Given the description of an element on the screen output the (x, y) to click on. 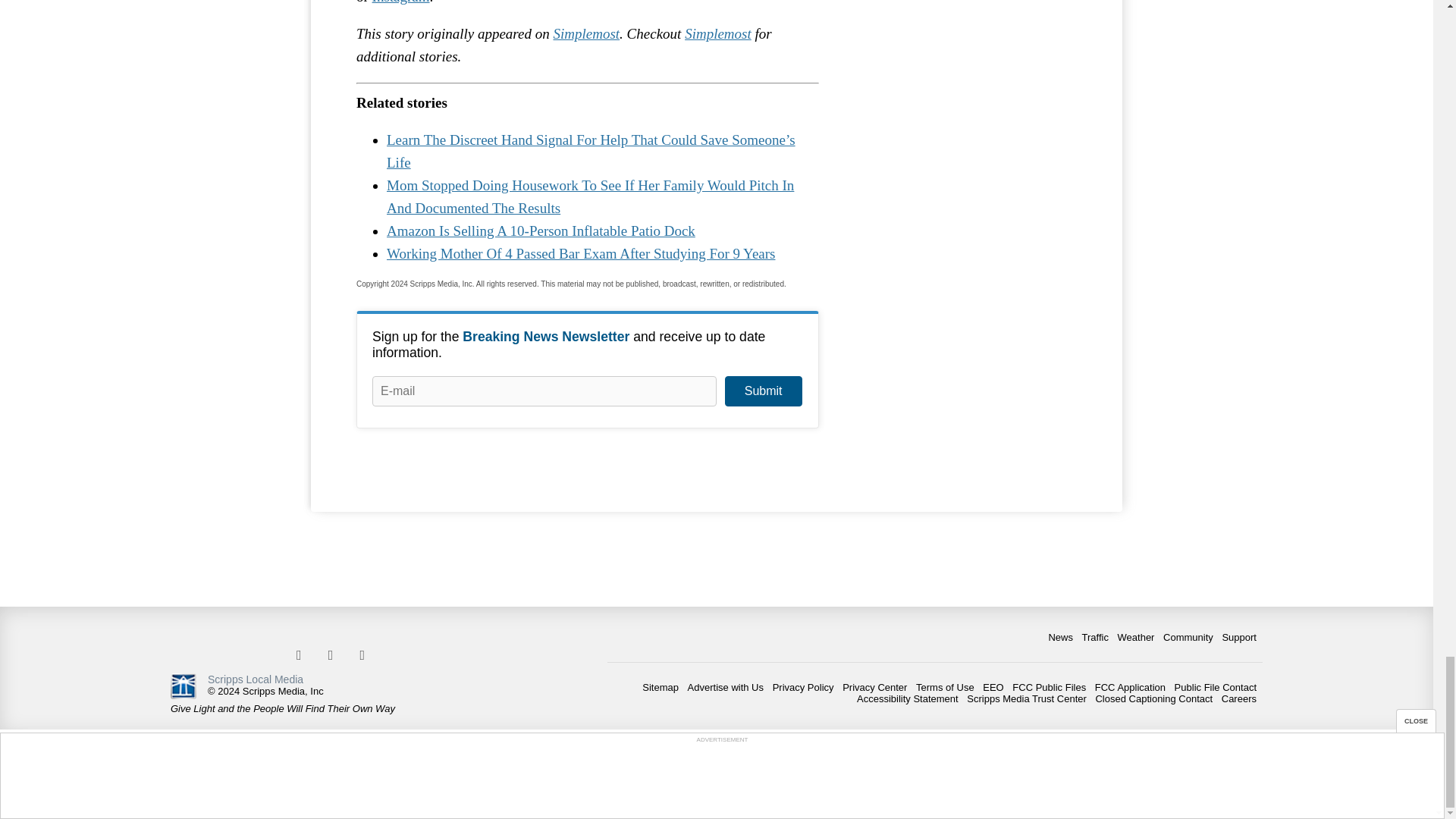
Submit (763, 390)
